Given the description of an element on the screen output the (x, y) to click on. 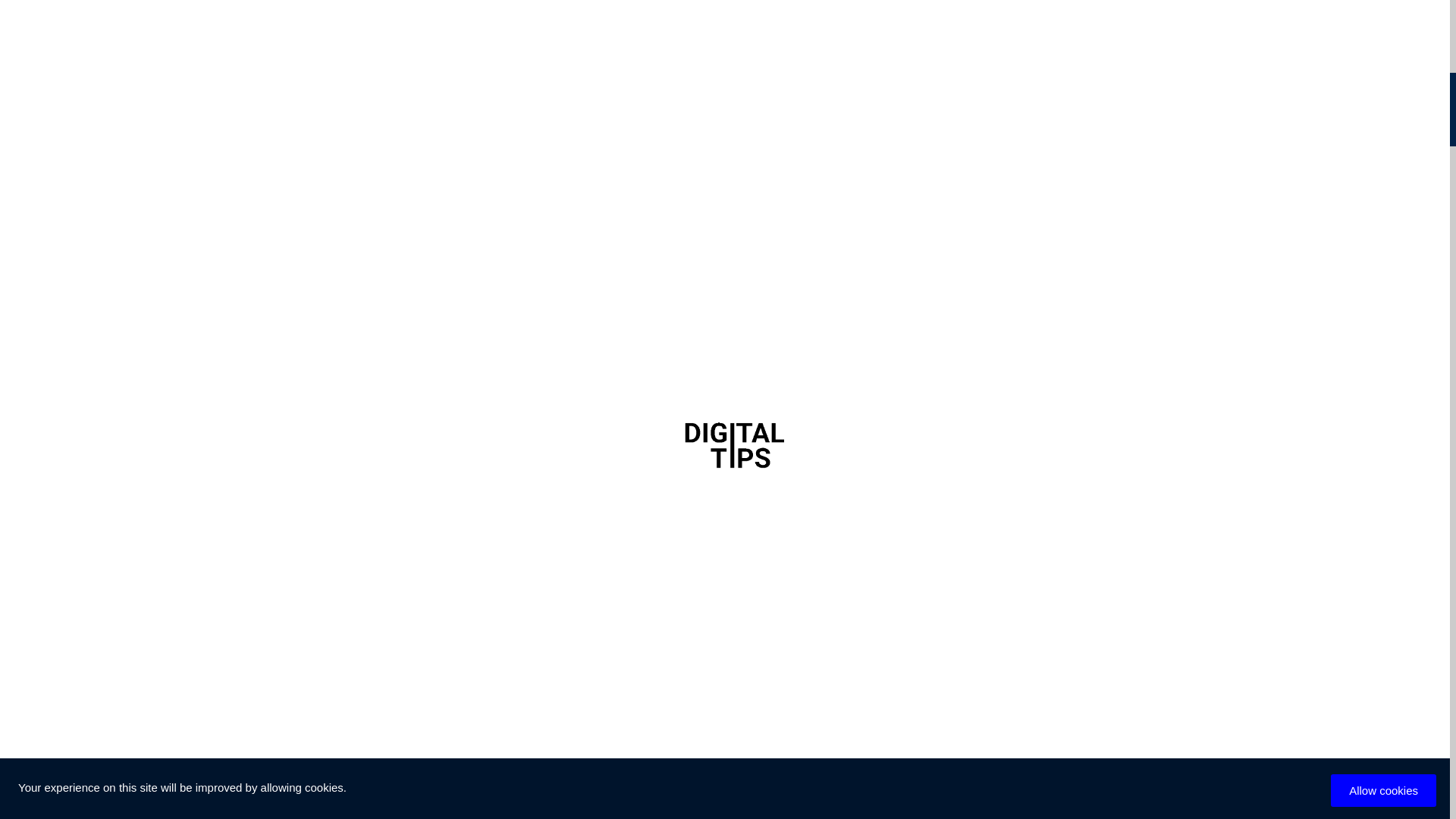
Learn More (839, 460)
Intro Video (992, 460)
